Given the description of an element on the screen output the (x, y) to click on. 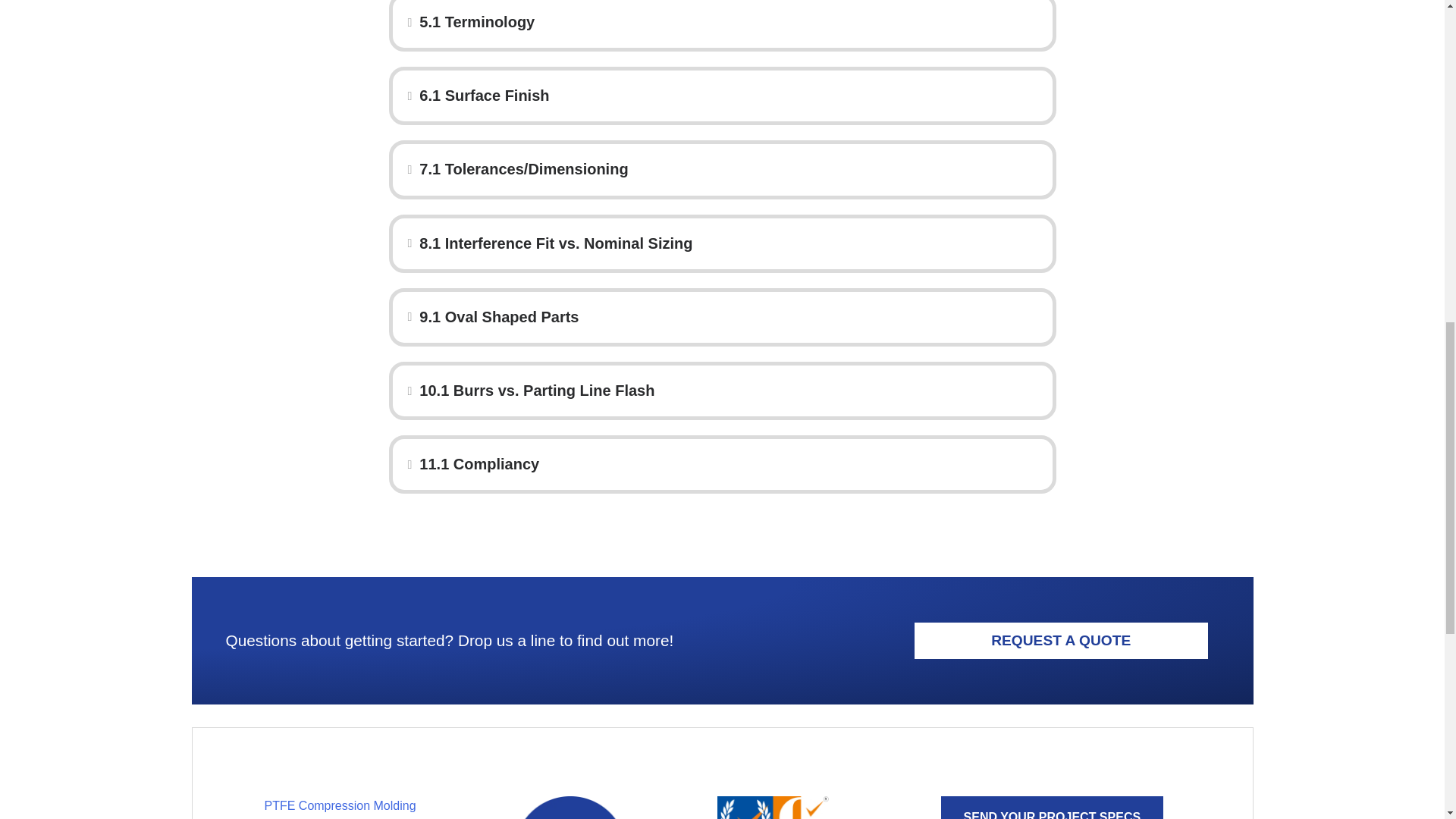
10.1 Burrs vs. Parting Line Flash (727, 390)
US4455-01-web (773, 807)
11.1 Compliancy (727, 464)
9.1 Oval Shaped Parts (727, 317)
5.1 Terminology (727, 22)
Click Here (1051, 807)
6.1 Surface Finish (727, 95)
PIC-LOGO1 (569, 807)
8.1 Interference Fit vs. Nominal Sizing (727, 243)
